Given the description of an element on the screen output the (x, y) to click on. 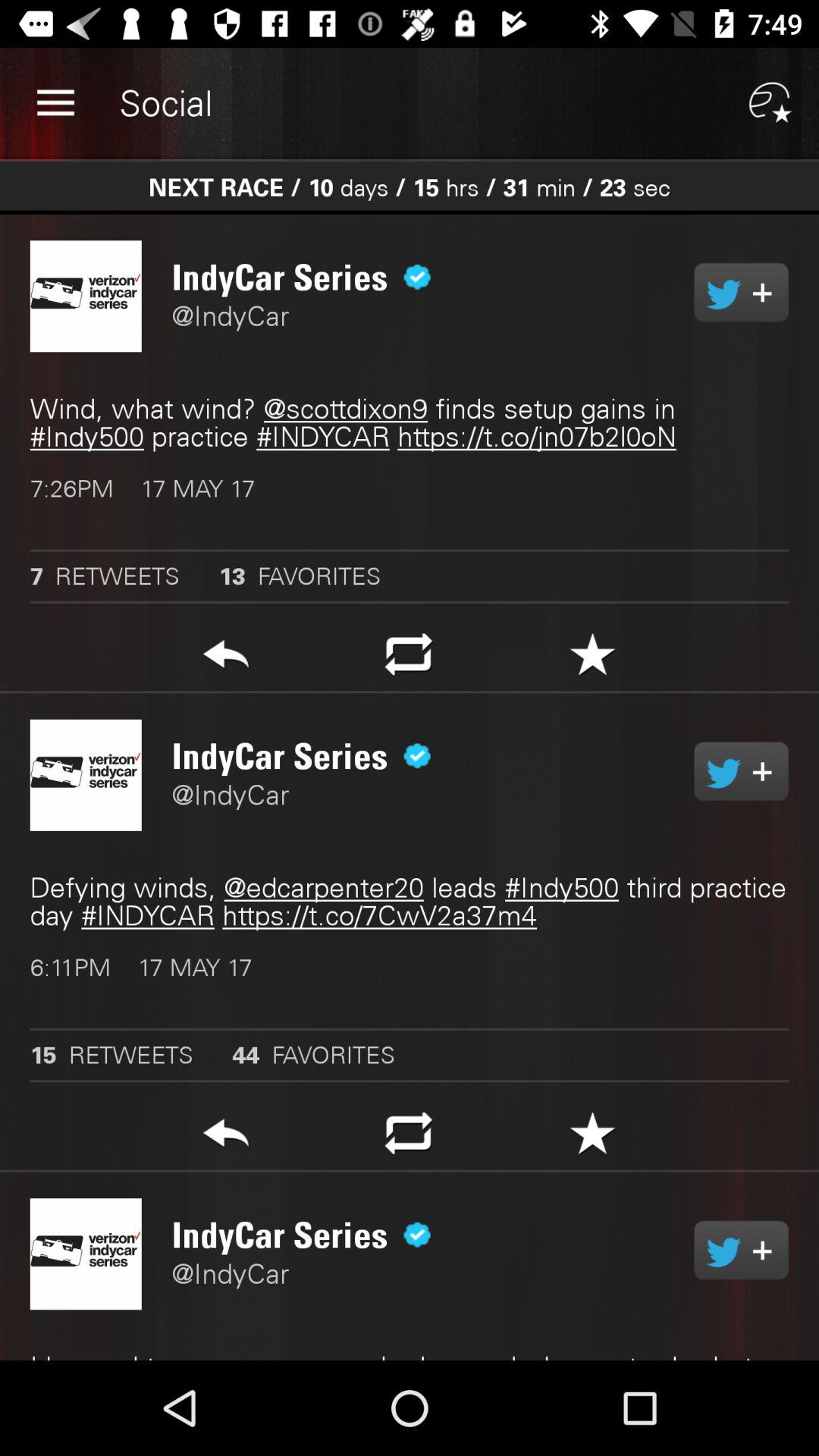
favorite (592, 1137)
